Given the description of an element on the screen output the (x, y) to click on. 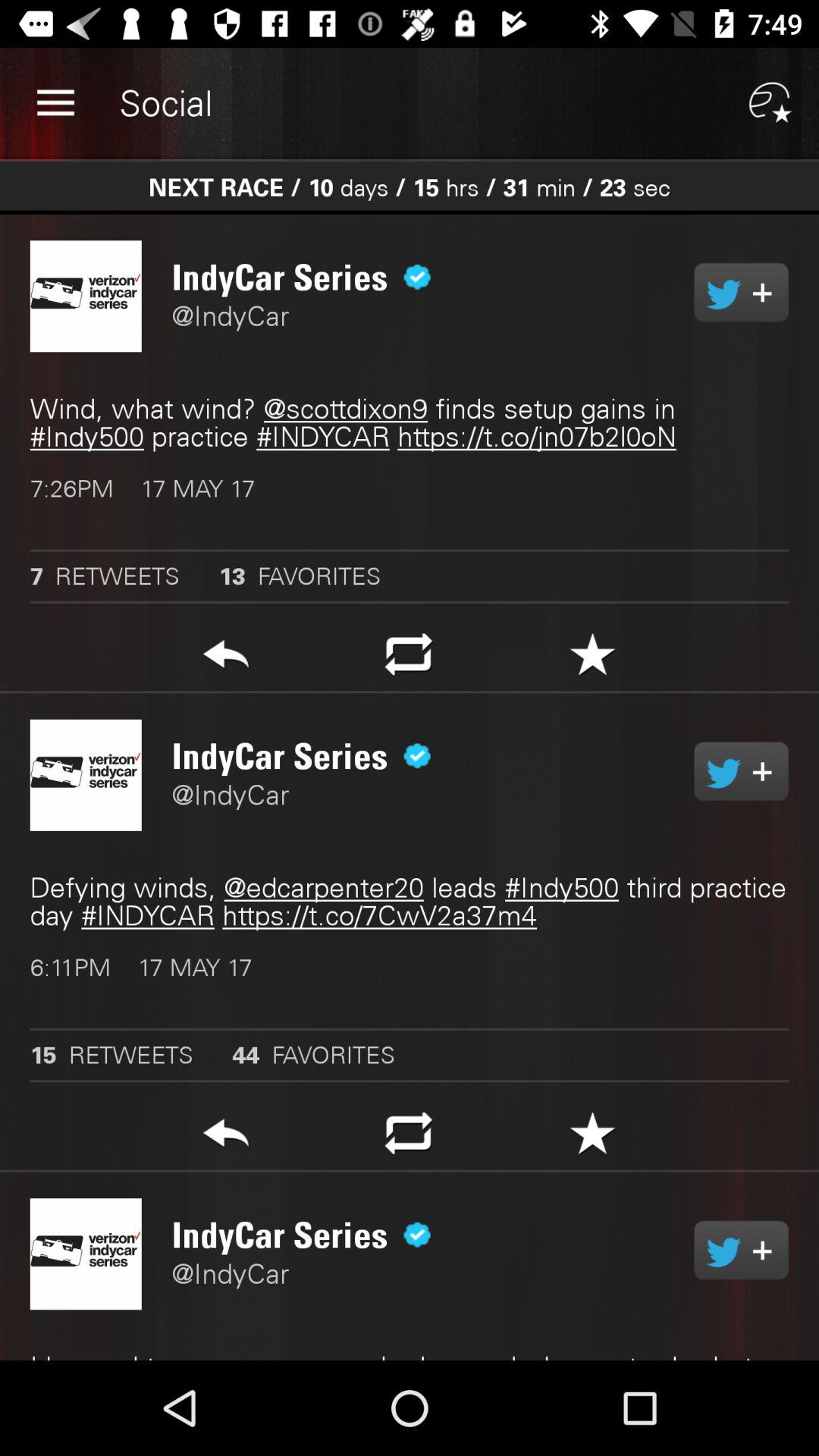
favorite (592, 1137)
